Given the description of an element on the screen output the (x, y) to click on. 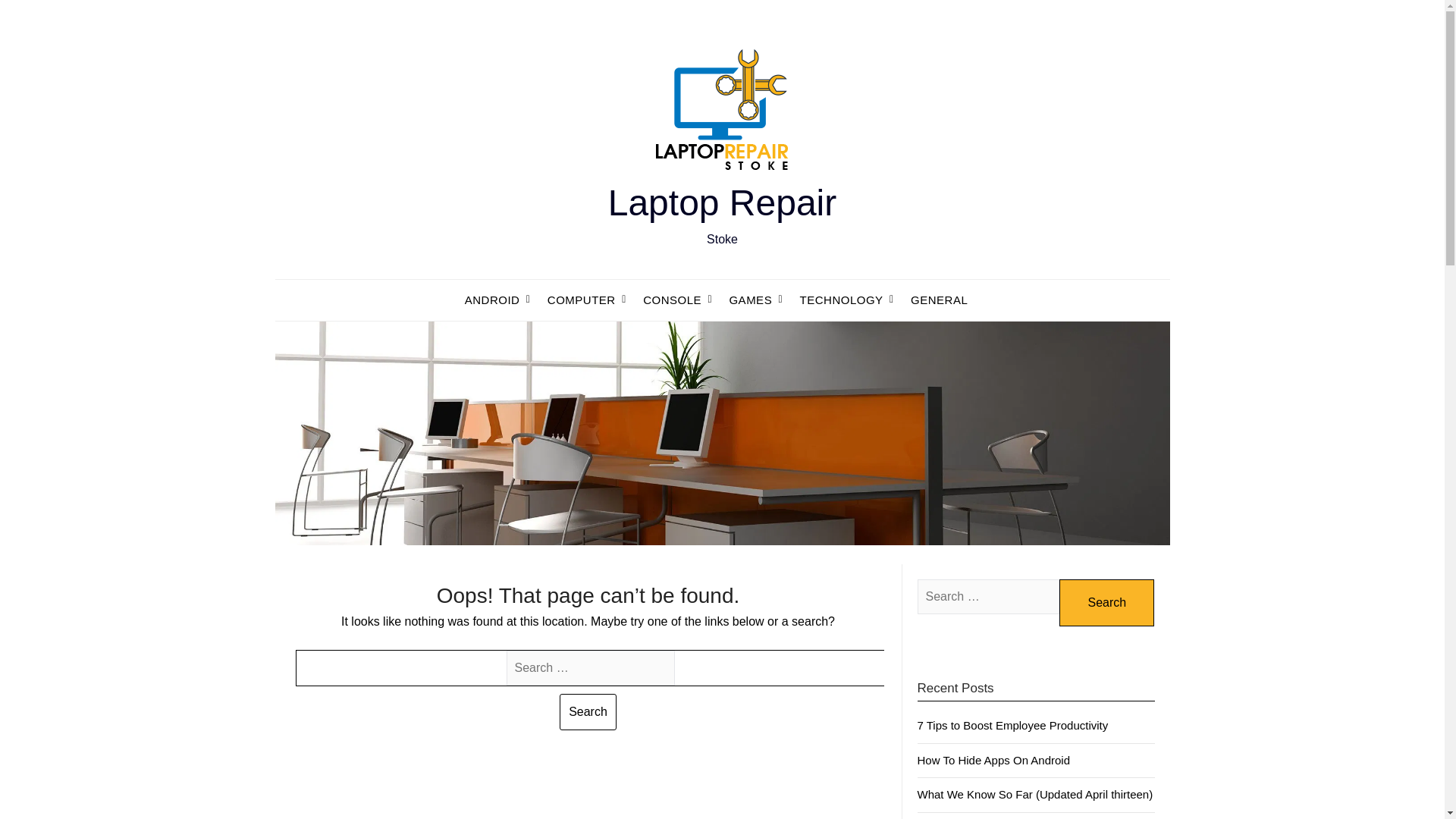
Search (1106, 602)
Search (587, 711)
CONSOLE (671, 300)
TECHNOLOGY (841, 300)
Search (587, 711)
Laptop Repair (722, 202)
Search (1106, 602)
COMPUTER (581, 300)
GAMES (750, 300)
ANDROID (498, 300)
